Given the description of an element on the screen output the (x, y) to click on. 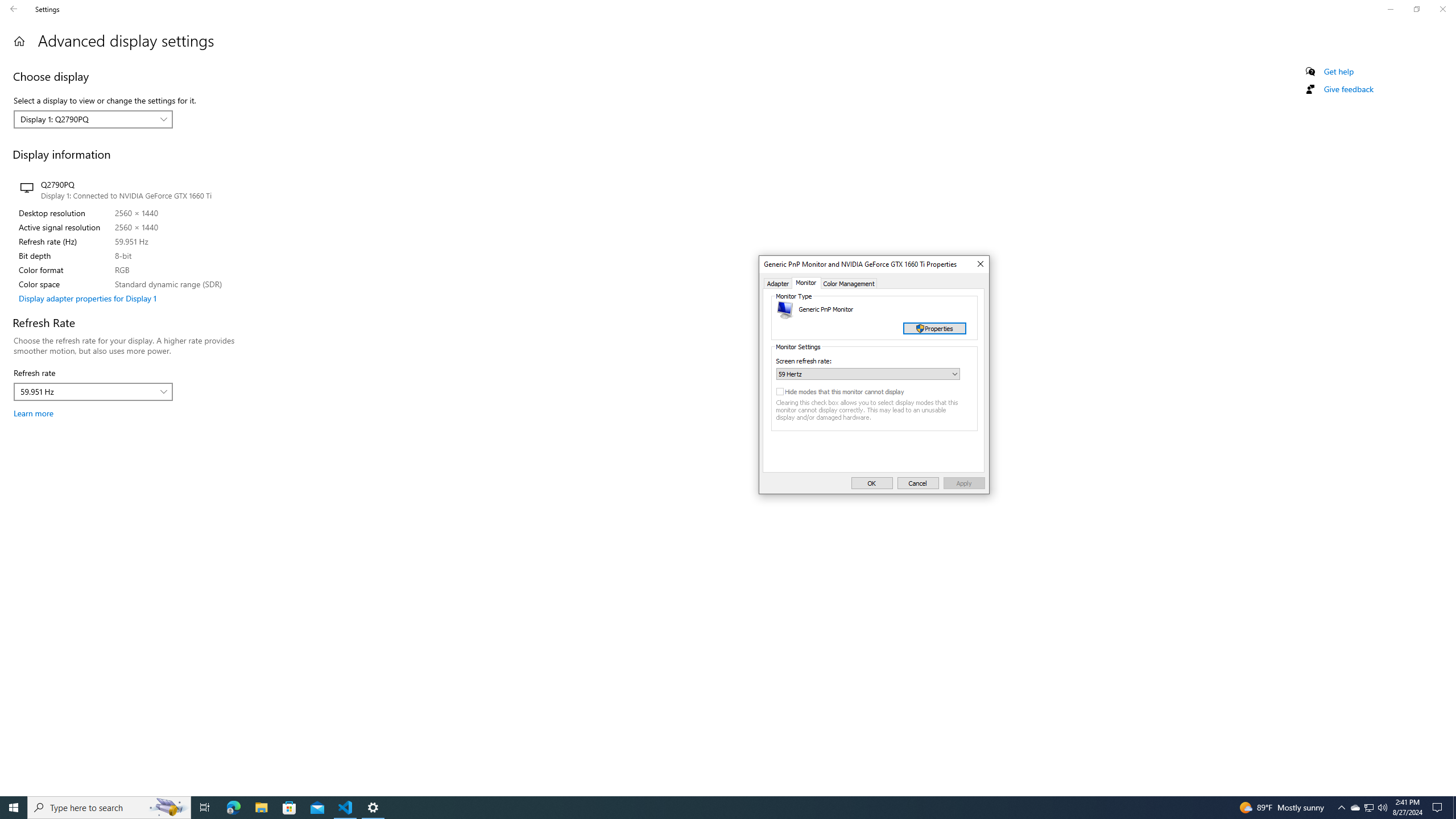
Search highlights icon opens search home window (1368, 807)
Q2790: 100% (167, 807)
Visual Studio Code - 1 running window (1382, 807)
Settings - 1 running window (345, 807)
Show desktop (1355, 807)
User Promoted Notification Area (373, 807)
Microsoft Edge (1454, 807)
File Explorer (1368, 807)
Cancel (233, 807)
Microsoft Store (261, 807)
Running applications (917, 482)
Start (289, 807)
